Given the description of an element on the screen output the (x, y) to click on. 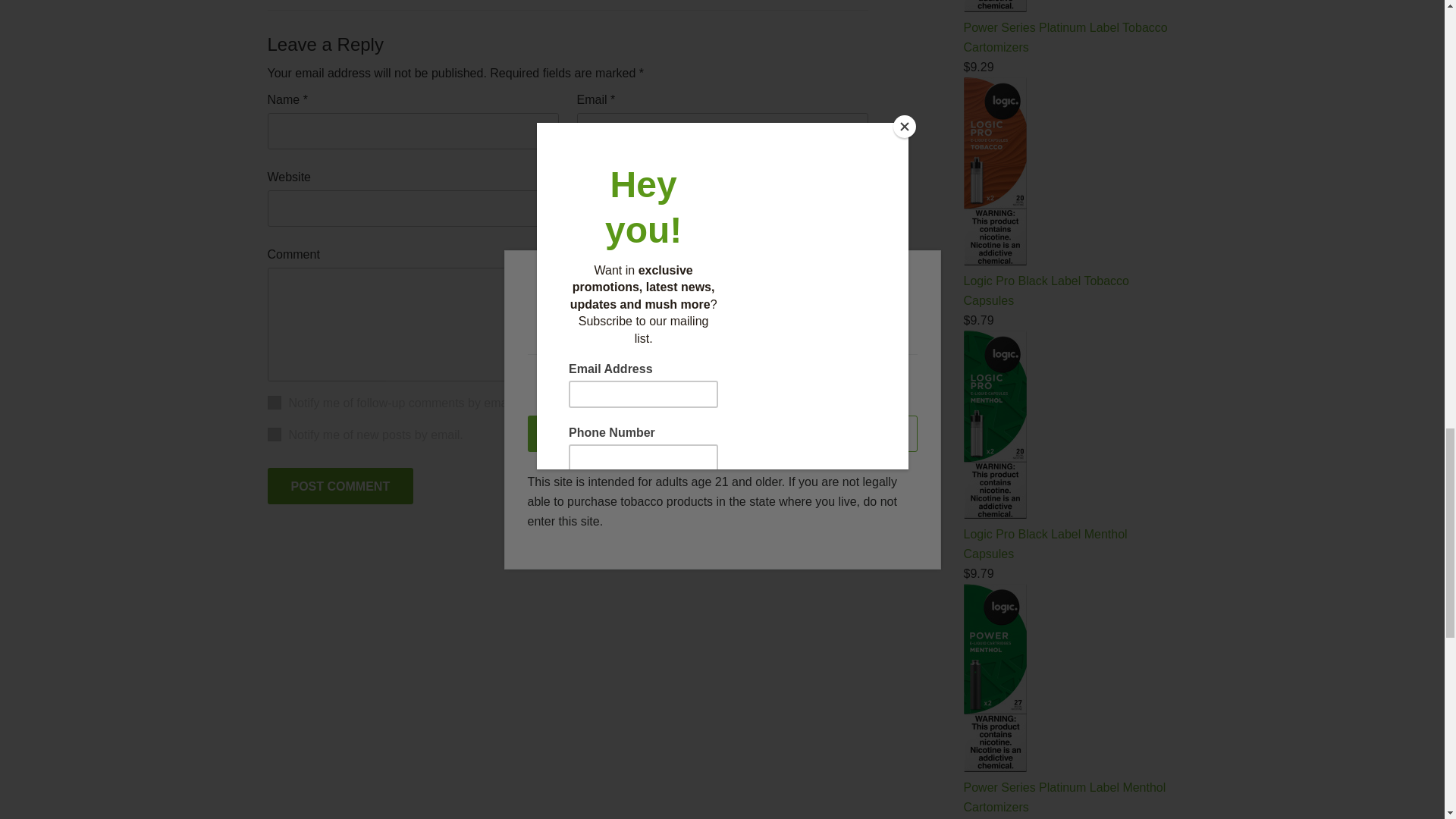
Power Series Platinum Label Tobacco Cartomizers (994, 6)
Post Comment (339, 485)
Post Comment (339, 485)
